Given the description of an element on the screen output the (x, y) to click on. 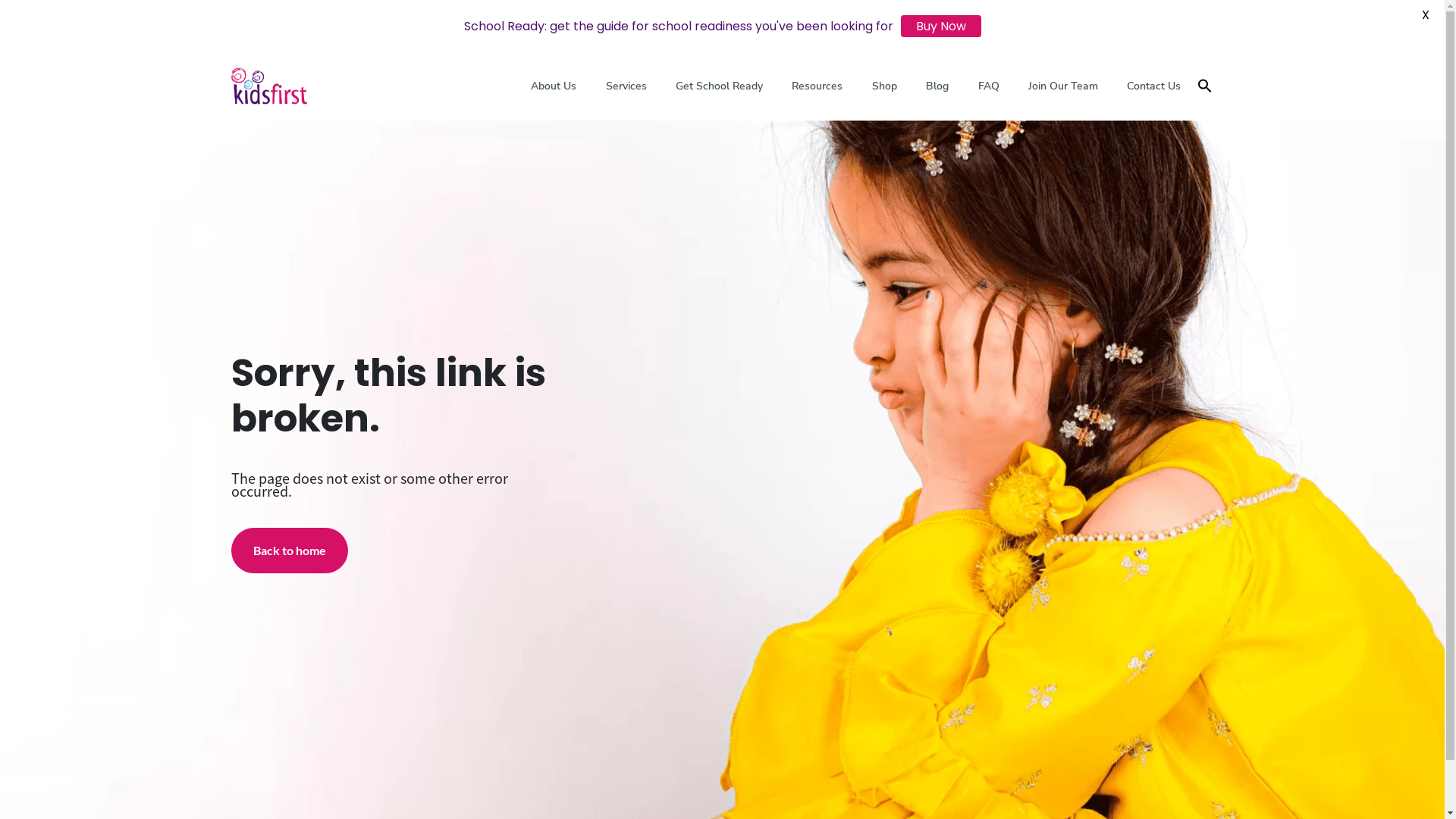
About Us Element type: text (553, 85)
Join Our Team Element type: text (1062, 85)
Buy Now Element type: text (940, 26)
Blog Element type: text (937, 85)
Shop Element type: text (884, 85)
link Element type: text (268, 85)
FAQ Element type: text (988, 85)
Resources Element type: text (816, 85)
Services Element type: text (626, 85)
Get School Ready Element type: text (719, 85)
Contact Us Element type: text (1153, 85)
Back to home Element type: text (288, 550)
